Given the description of an element on the screen output the (x, y) to click on. 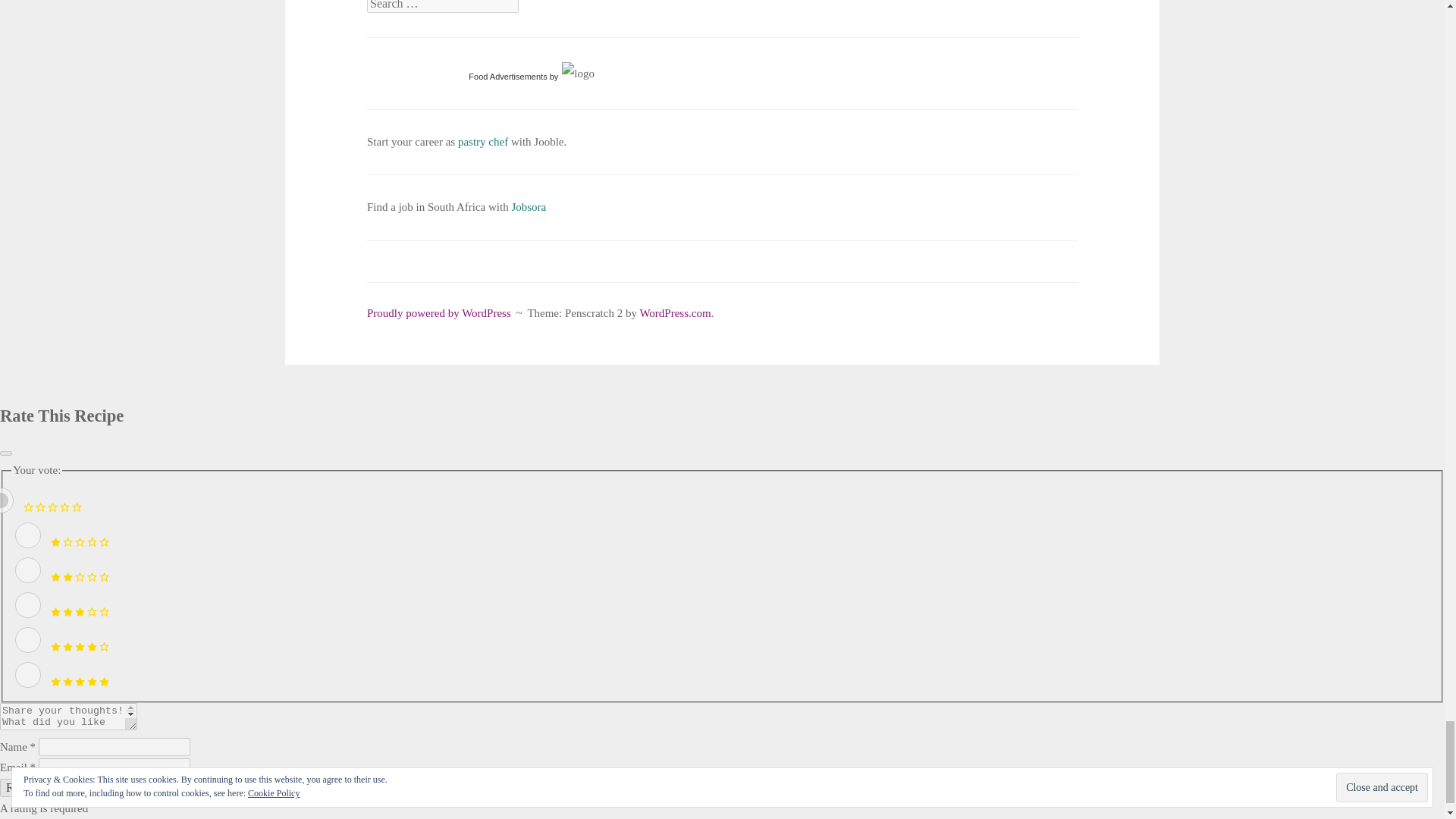
3 (27, 605)
2 (27, 570)
1 (27, 534)
5 (27, 674)
4 (27, 639)
